Given the description of an element on the screen output the (x, y) to click on. 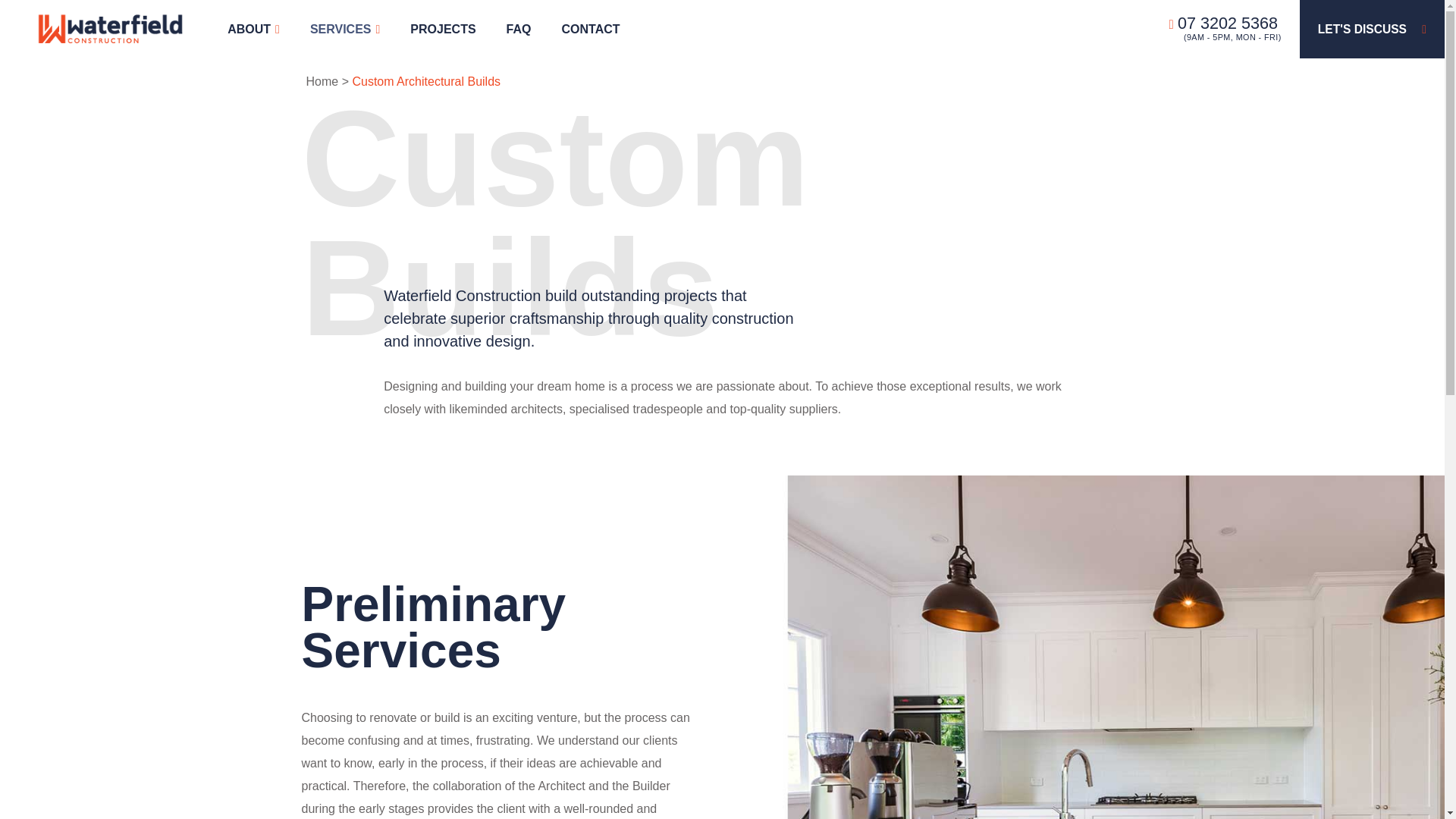
07 3202 5368 (1223, 22)
SERVICES (344, 28)
ABOUT (252, 28)
FAQ (518, 28)
PROJECTS (443, 28)
CONTACT (590, 28)
Home (322, 81)
